Given the description of an element on the screen output the (x, y) to click on. 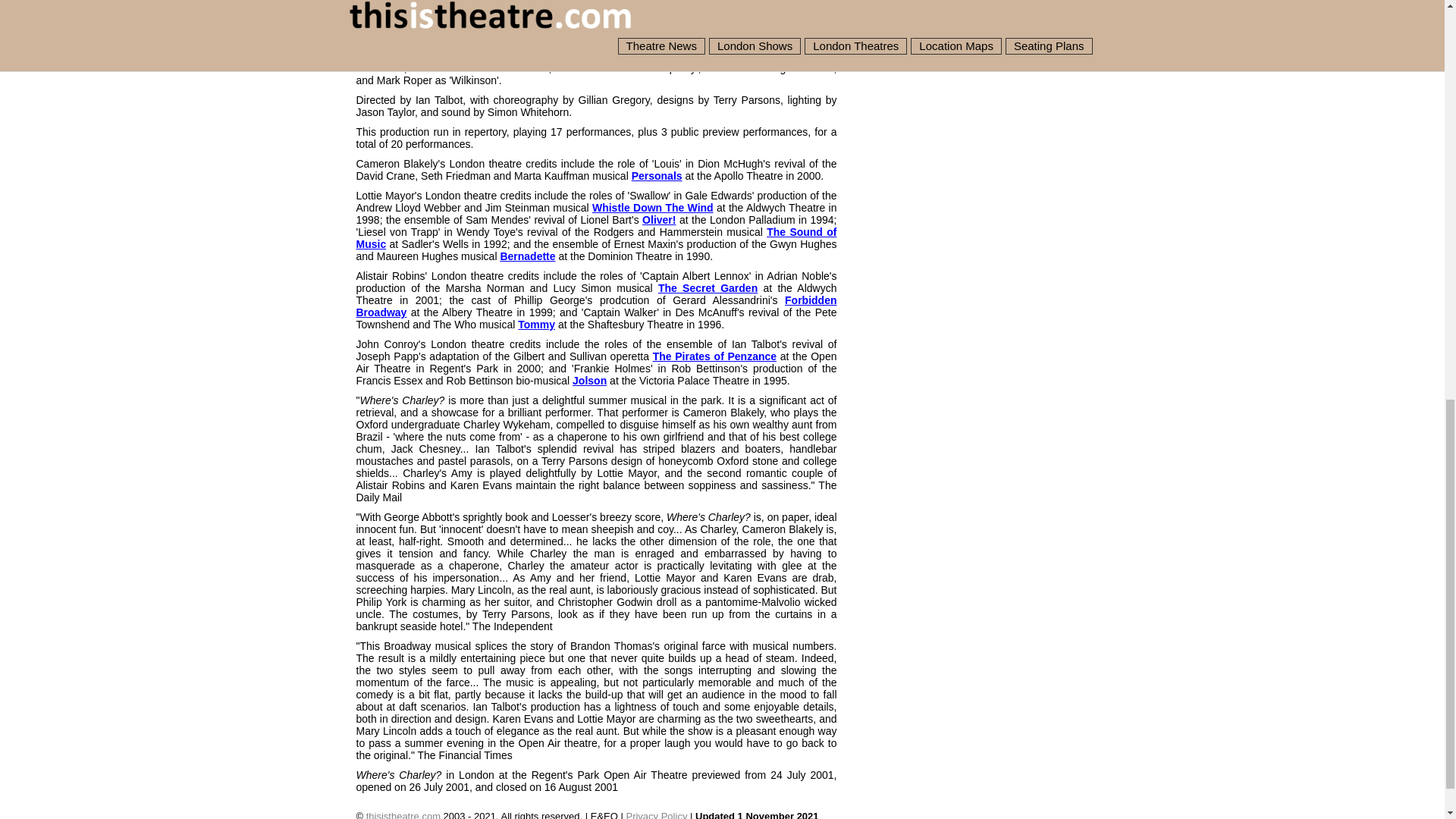
The Secret Garden (707, 287)
Jolson (589, 380)
Privacy Policy (656, 814)
Forbidden Broadway (596, 306)
Personals (656, 175)
Tommy (536, 324)
Bernadette (526, 256)
Oliver! (658, 219)
thisistheatre.com (403, 814)
The Pirates of Penzance (714, 356)
Whistle Down The Wind (652, 207)
The Sound of Music (596, 238)
